Given the description of an element on the screen output the (x, y) to click on. 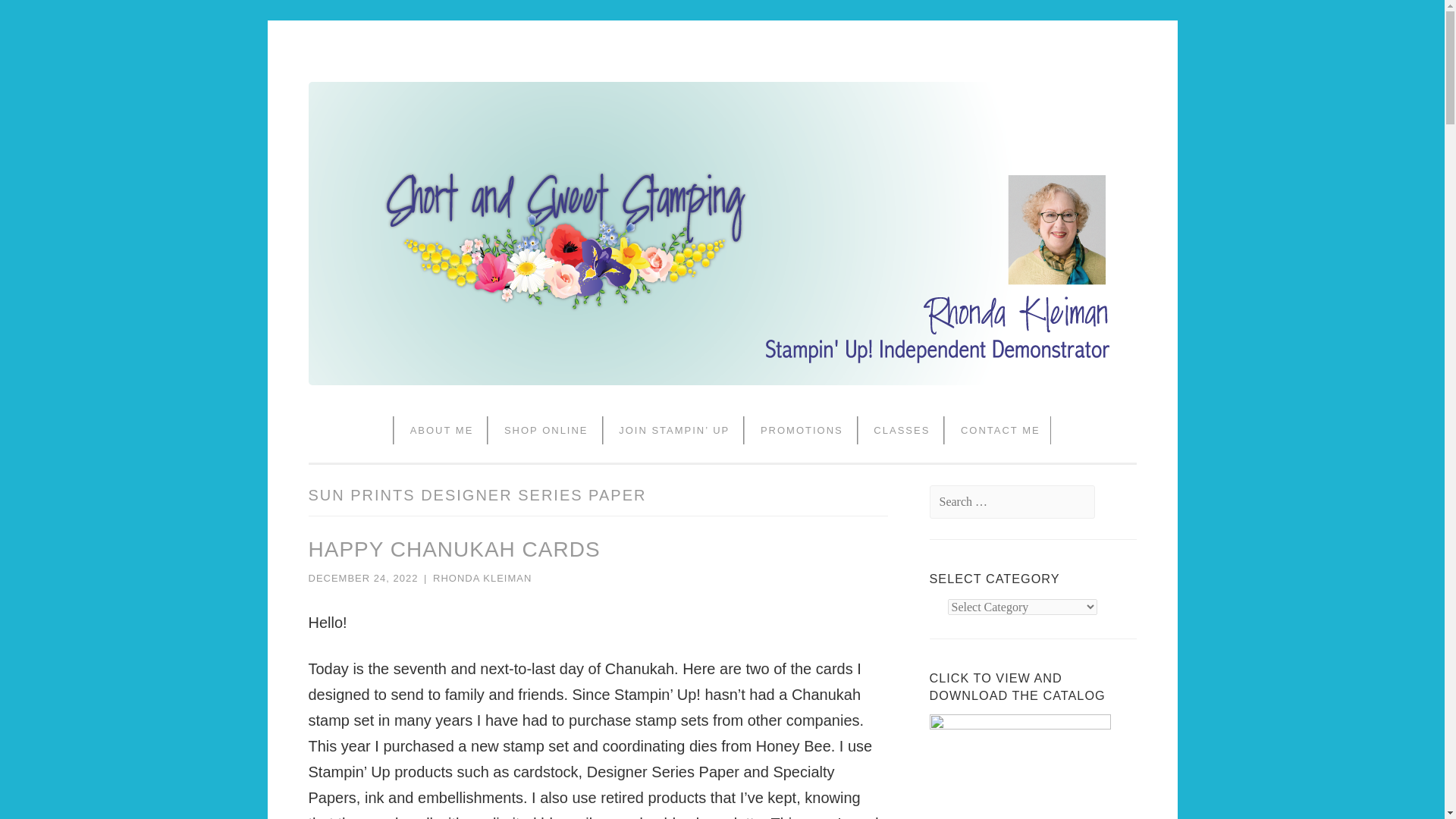
PROMOTIONS (796, 430)
CLASSES (896, 430)
DECEMBER 24, 2022 (362, 577)
RHONDA KLEIMAN (481, 577)
HAPPY CHANUKAH CARDS (453, 549)
SHOP ONLINE (540, 430)
ABOUT ME (436, 430)
CONTACT ME (995, 430)
